Given the description of an element on the screen output the (x, y) to click on. 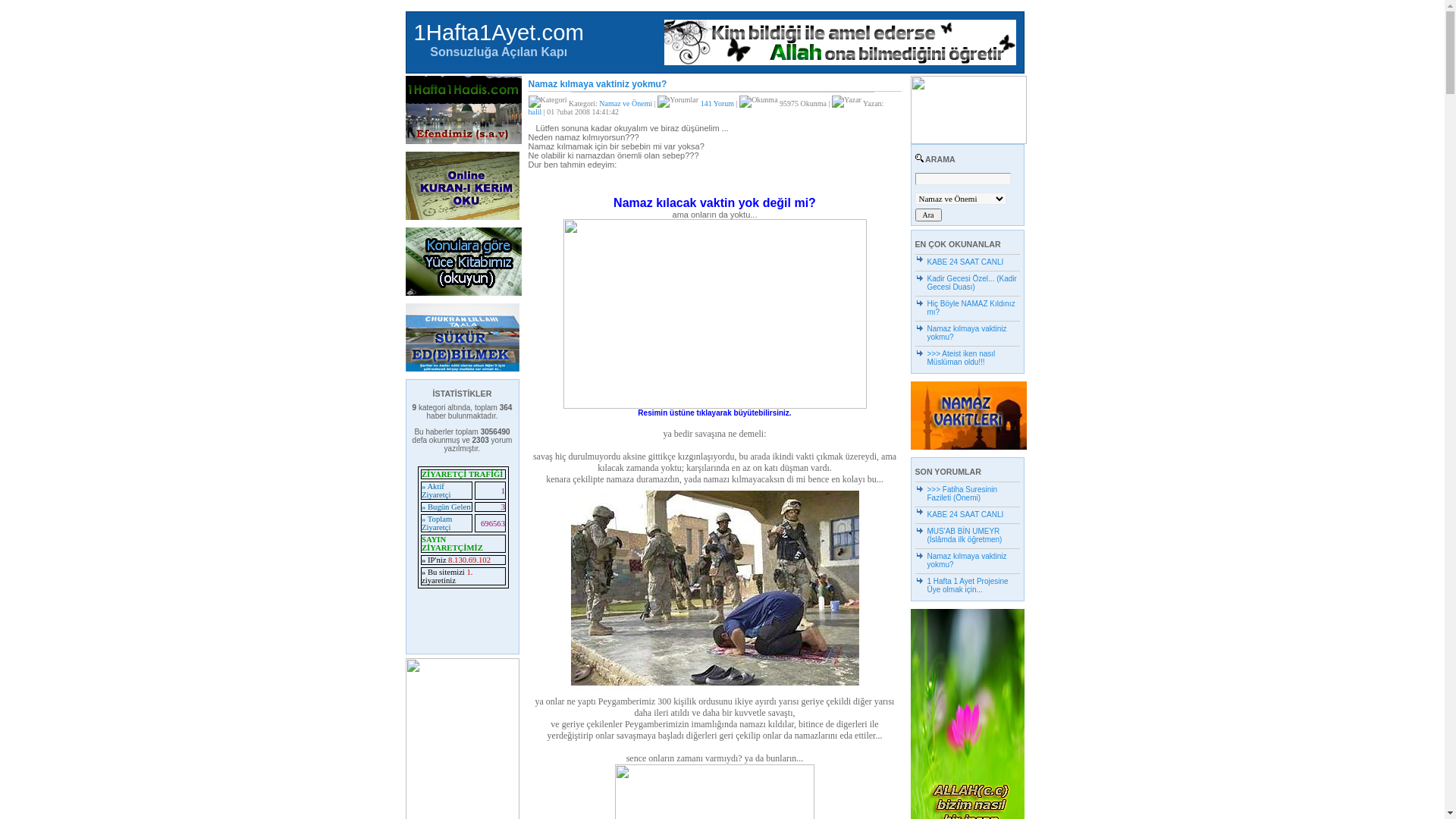
1Hafta1Ayet.com Element type: text (498, 31)
KABE 24 SAAT CANLI Element type: text (964, 514)
halil Element type: text (534, 111)
KABE 24 SAAT CANLI Element type: text (964, 261)
 Ara  Element type: text (927, 214)
141 Yorum Element type: text (717, 103)
